Given the description of an element on the screen output the (x, y) to click on. 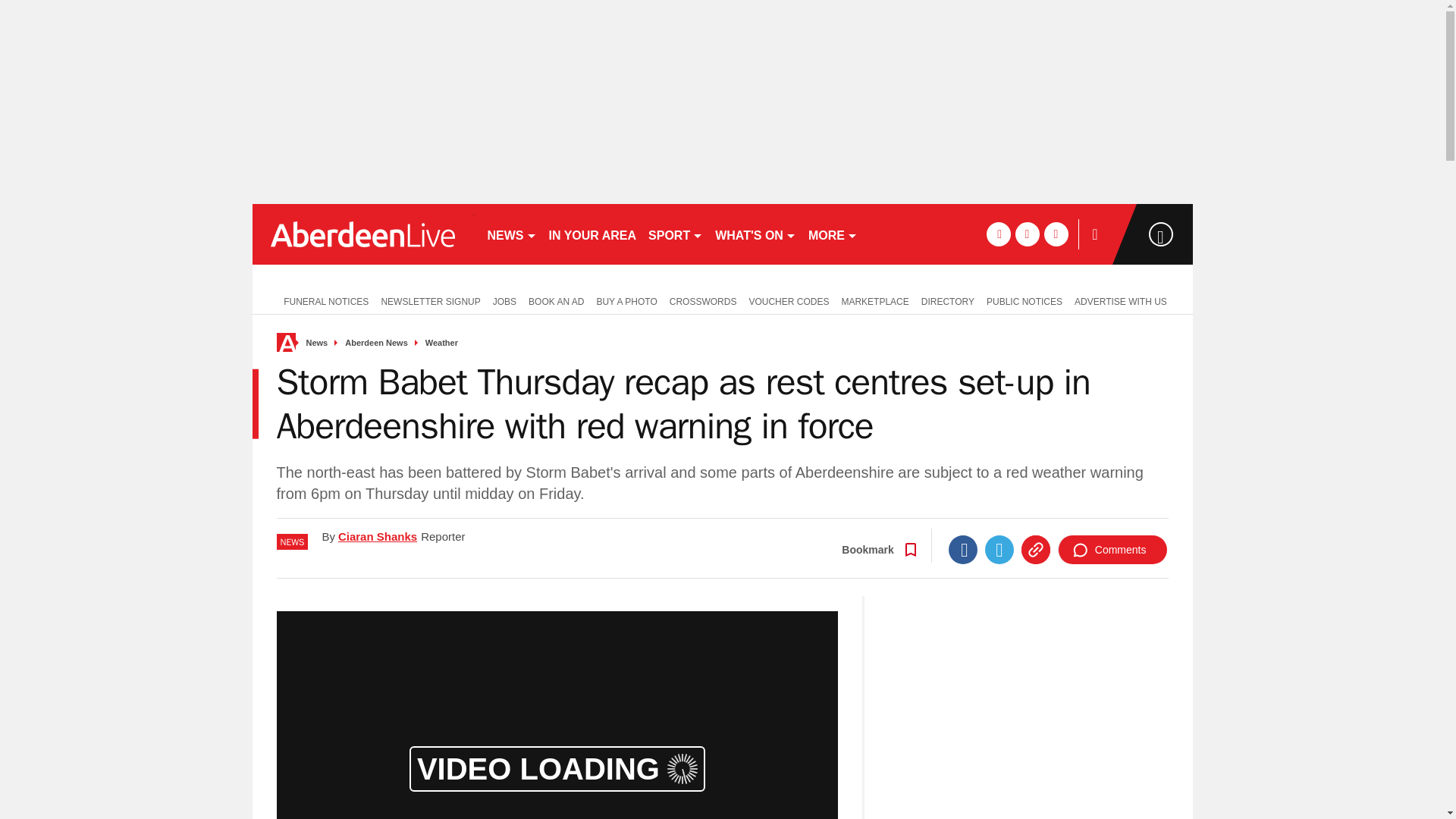
aberdeenlive (362, 233)
WHAT'S ON (755, 233)
BUY A PHOTO (625, 300)
Comments (1112, 549)
NEWSLETTER SIGNUP (430, 300)
twitter (1026, 233)
FUNERAL NOTICES (322, 300)
instagram (1055, 233)
CROSSWORDS (702, 300)
MORE (832, 233)
